Given the description of an element on the screen output the (x, y) to click on. 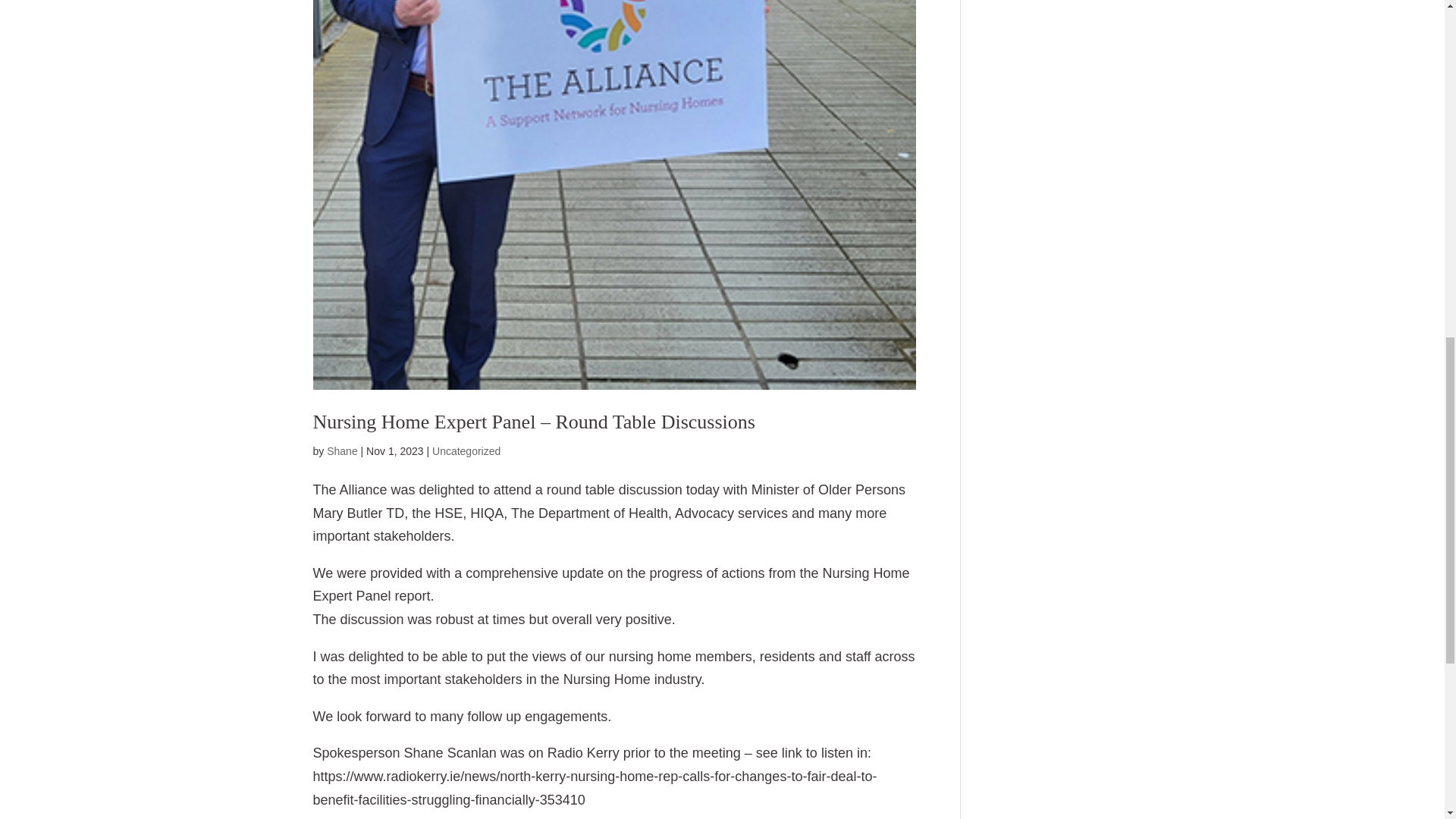
Posts by Shane (341, 451)
Shane (341, 451)
Uncategorized (466, 451)
